Given the description of an element on the screen output the (x, y) to click on. 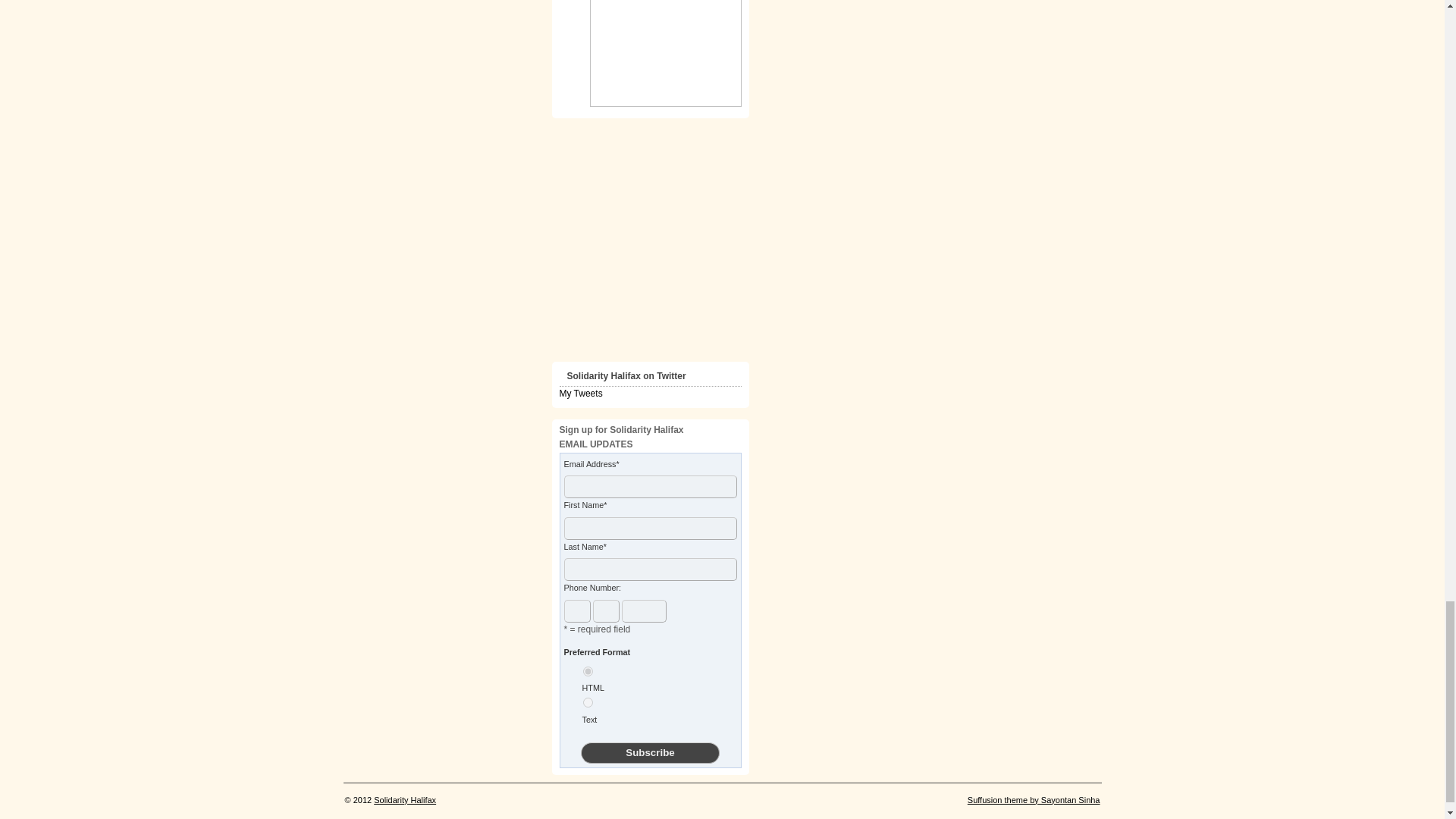
My Tweets (580, 393)
html (587, 671)
Subscribe (649, 752)
text (587, 702)
Subscribe (649, 752)
